Given the description of an element on the screen output the (x, y) to click on. 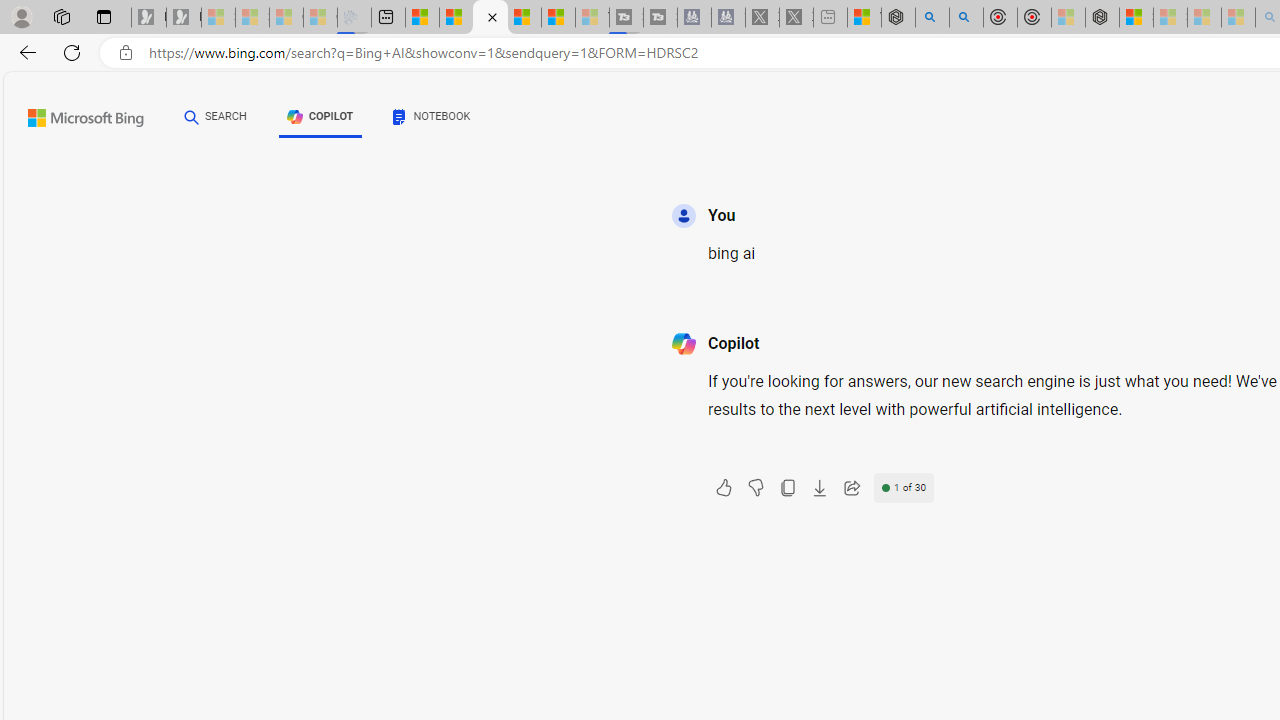
Copilot with GPT-4 (489, 17)
poe ++ standard - Search (966, 17)
poe - Search (932, 17)
NOTEBOOK (431, 116)
Chat (191, 116)
Back to Bing search (73, 113)
